Given the description of an element on the screen output the (x, y) to click on. 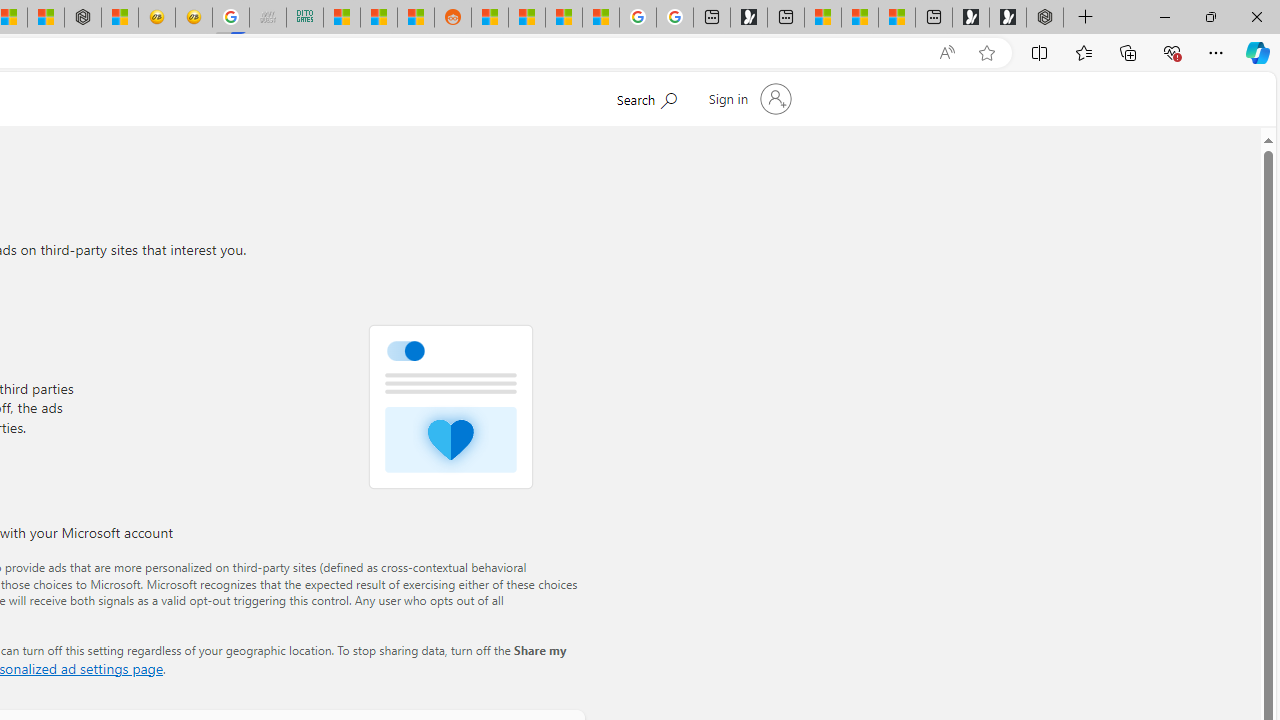
R******* | Trusted Community Engagement and Contributions (490, 17)
